Given the description of an element on the screen output the (x, y) to click on. 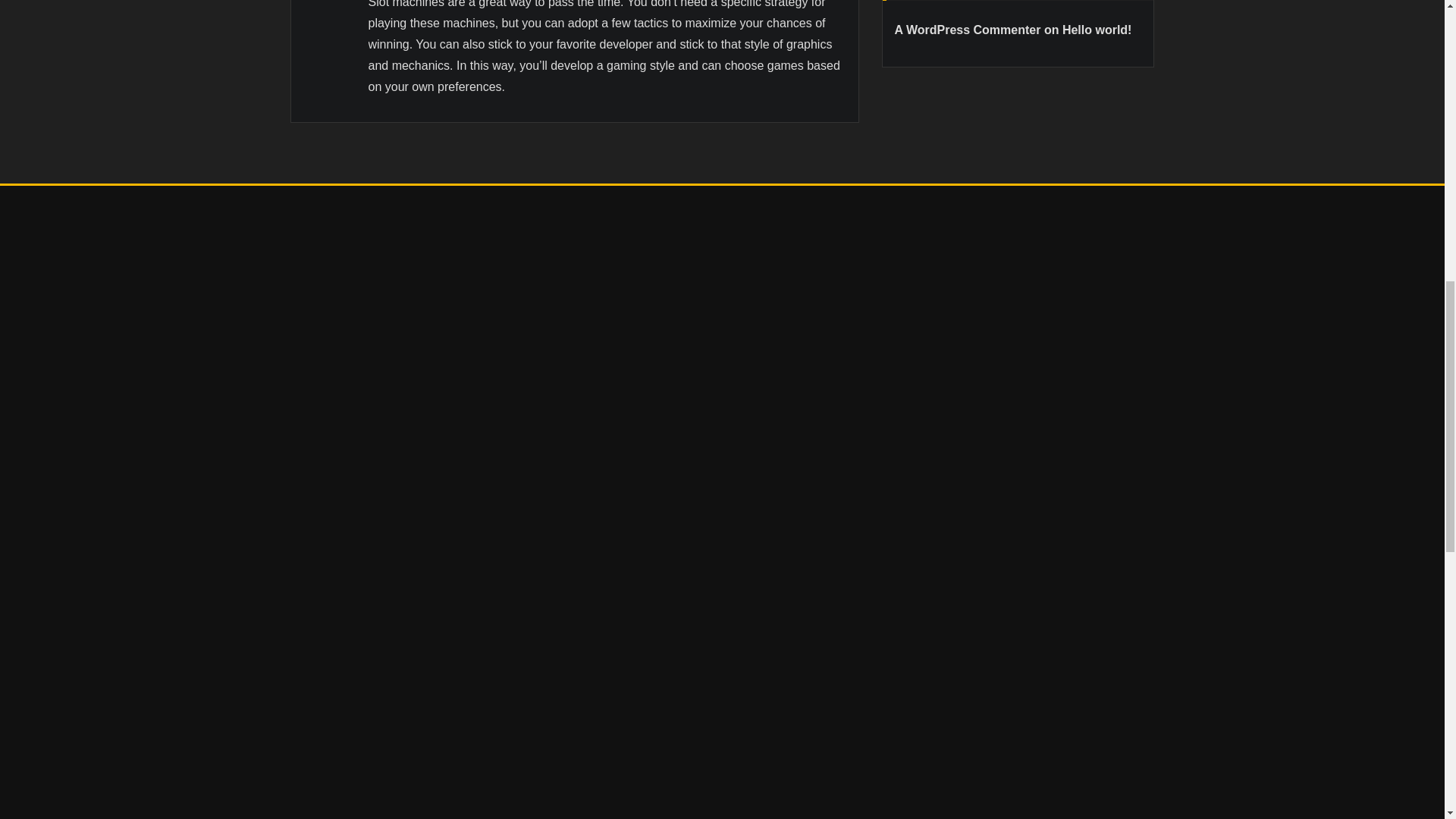
A WordPress Commenter (968, 29)
Hello world! (1097, 29)
